Given the description of an element on the screen output the (x, y) to click on. 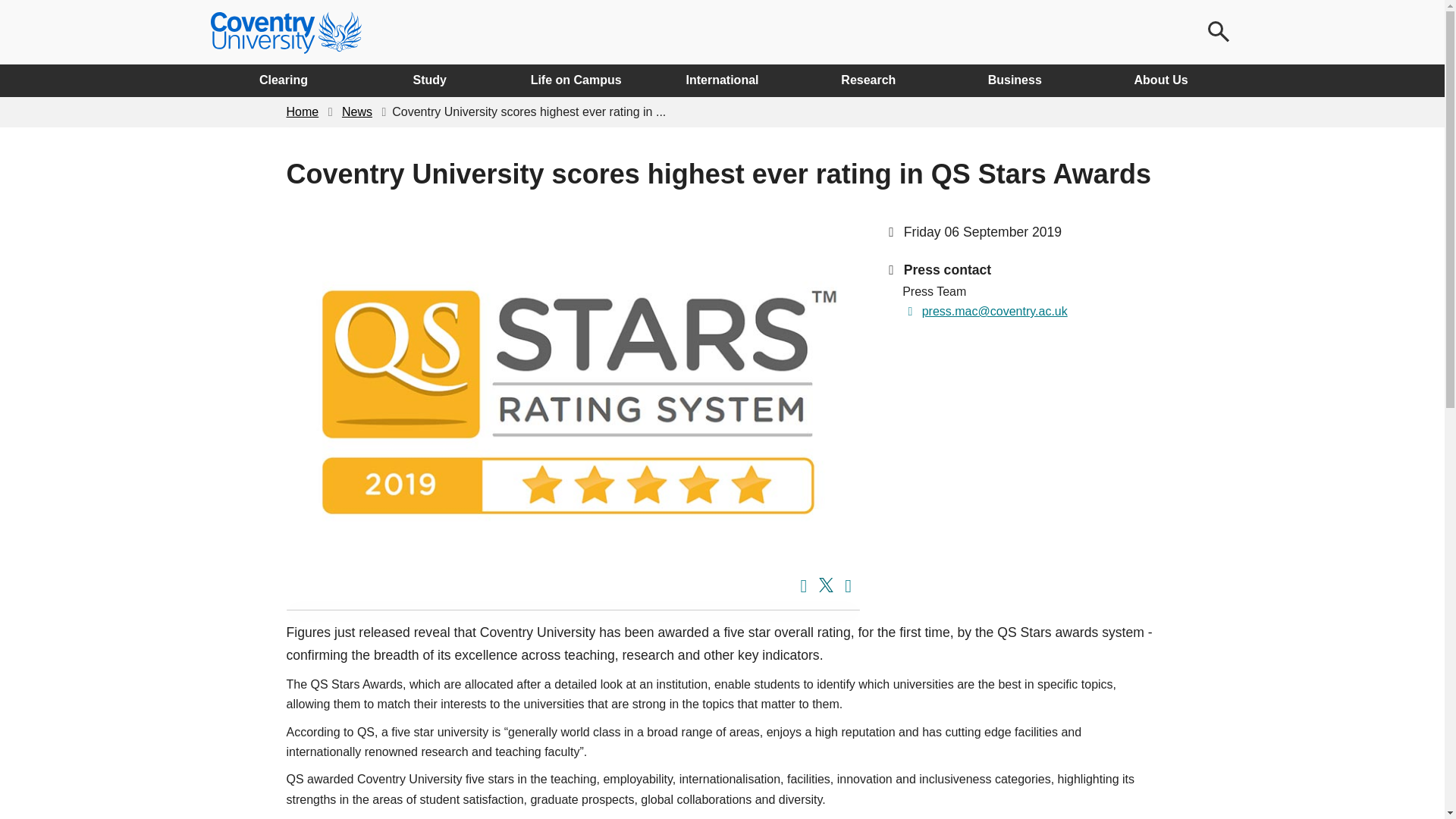
Clearing (283, 80)
Coventry University (286, 32)
Life on Campus (575, 80)
Study (429, 80)
